Given the description of an element on the screen output the (x, y) to click on. 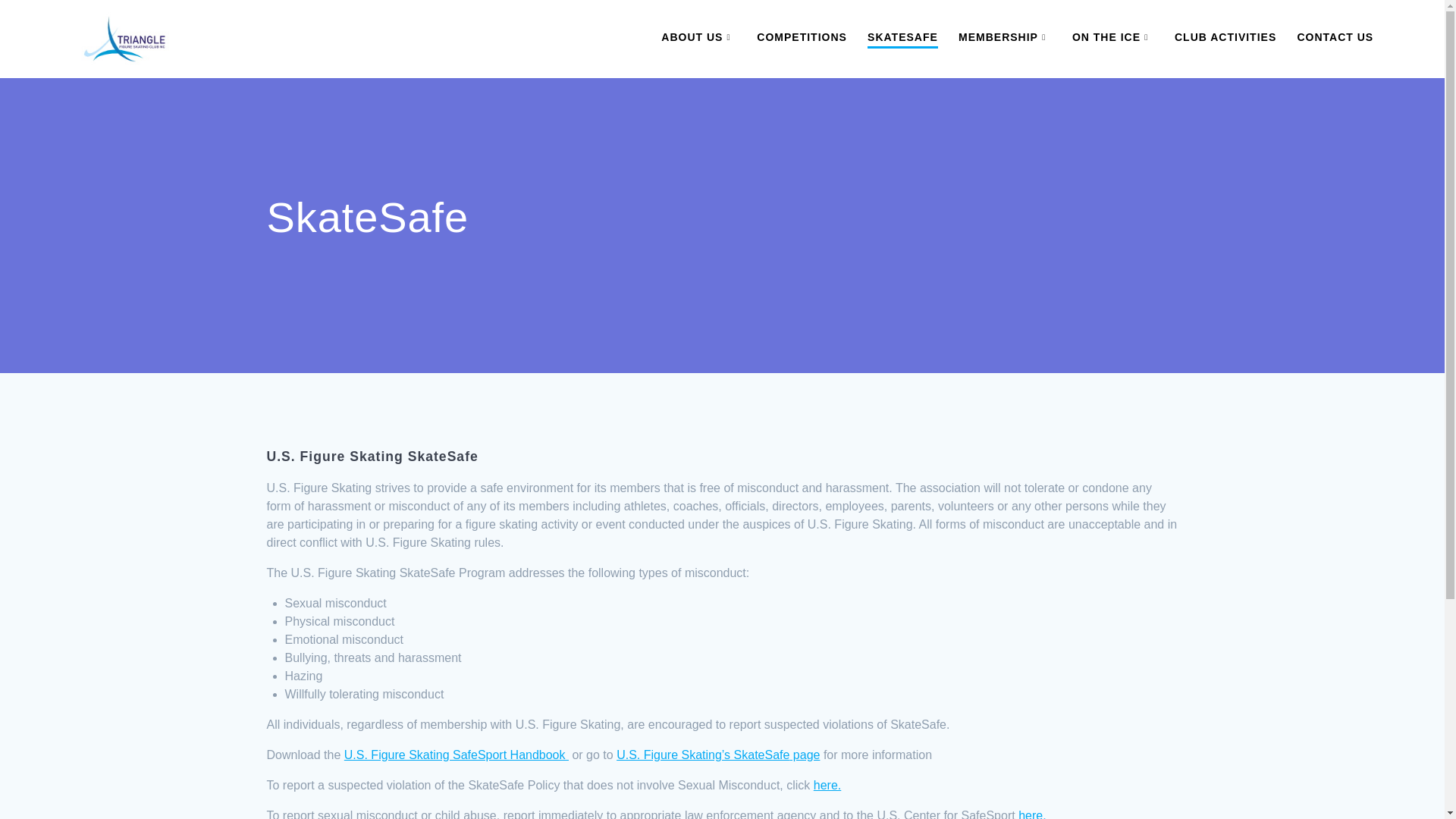
COMPETITIONS (802, 36)
MEMBERSHIP (1004, 36)
SKATESAFE (902, 37)
ABOUT US (698, 36)
ON THE ICE (1112, 36)
Calendar (1225, 36)
CONTACT US (1335, 36)
CLUB ACTIVITIES (1225, 36)
